Given the description of an element on the screen output the (x, y) to click on. 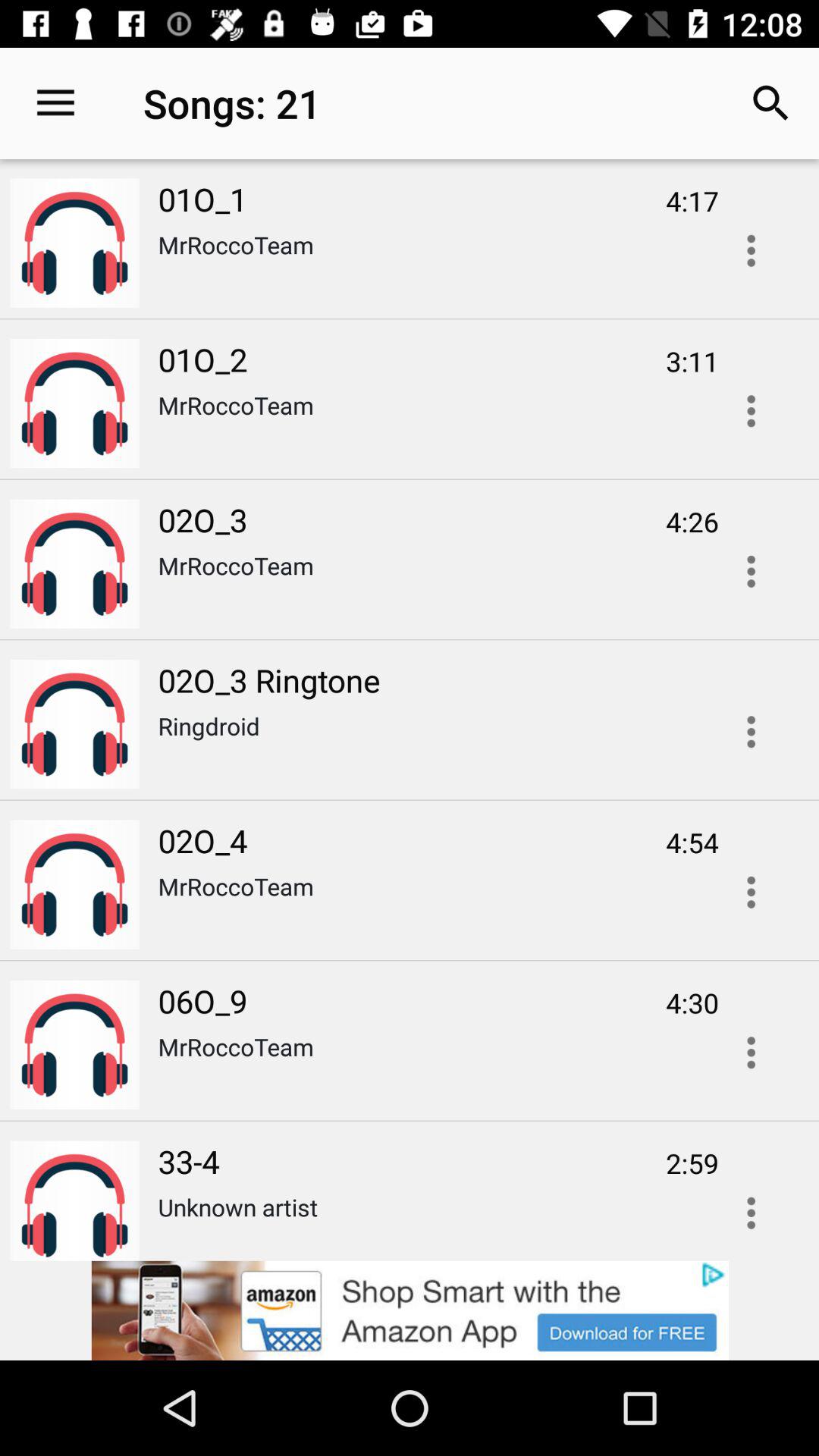
go to ringtone settings (750, 731)
